Given the description of an element on the screen output the (x, y) to click on. 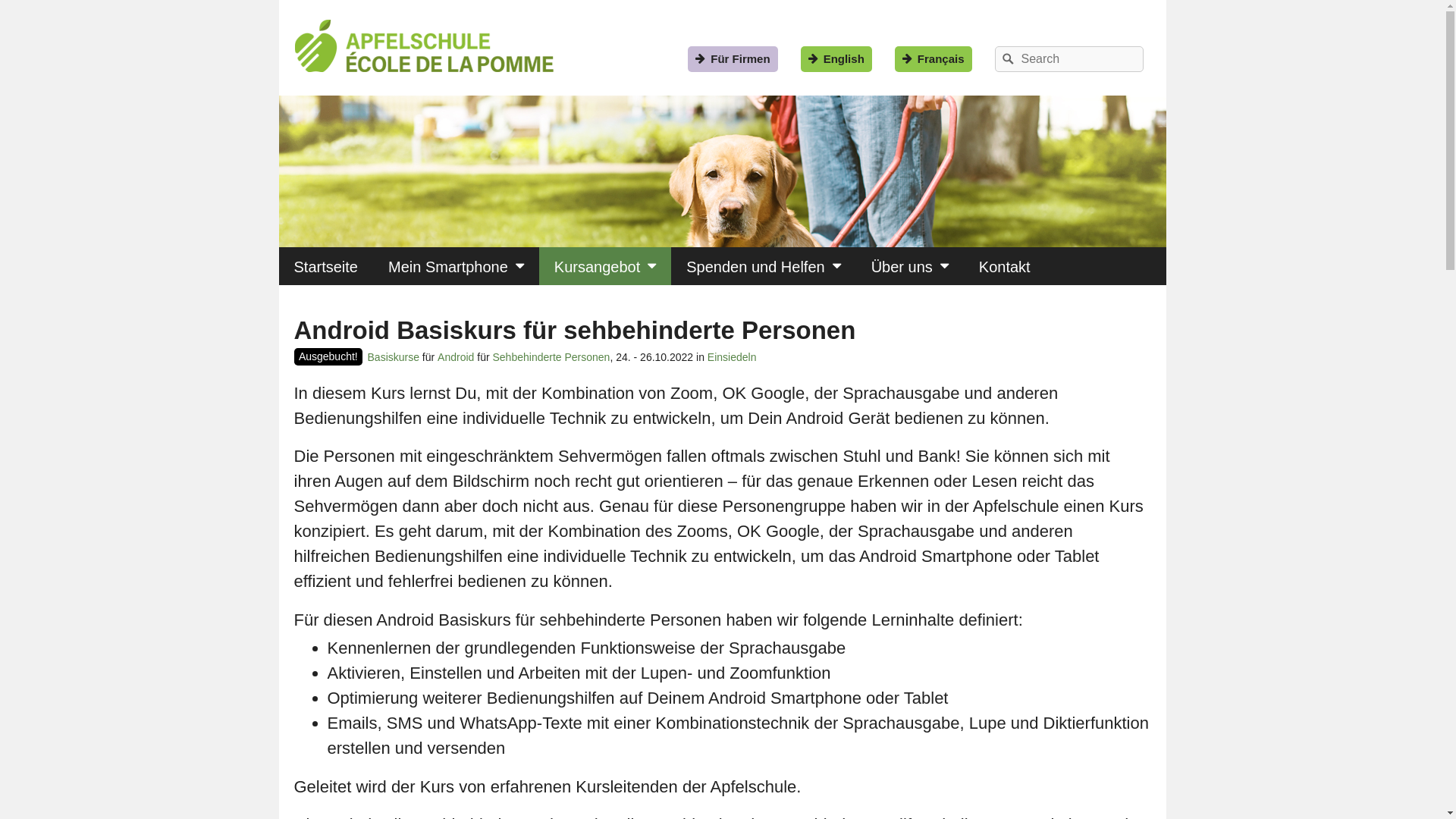
Sehbehinderte Personen Element type: text (551, 357)
Basiskurse Element type: text (393, 357)
Android Element type: text (455, 357)
English Element type: text (836, 59)
Kursangebot Element type: text (605, 266)
Search Element type: text (1007, 59)
Mein Smartphone Element type: text (456, 266)
Spenden und Helfen Element type: text (763, 266)
Kontakt Element type: text (1004, 266)
Einsiedeln Element type: text (731, 357)
Startseite Element type: text (326, 266)
Nach einem Stichwort suchen: Element type: hover (1068, 59)
